Given the description of an element on the screen output the (x, y) to click on. 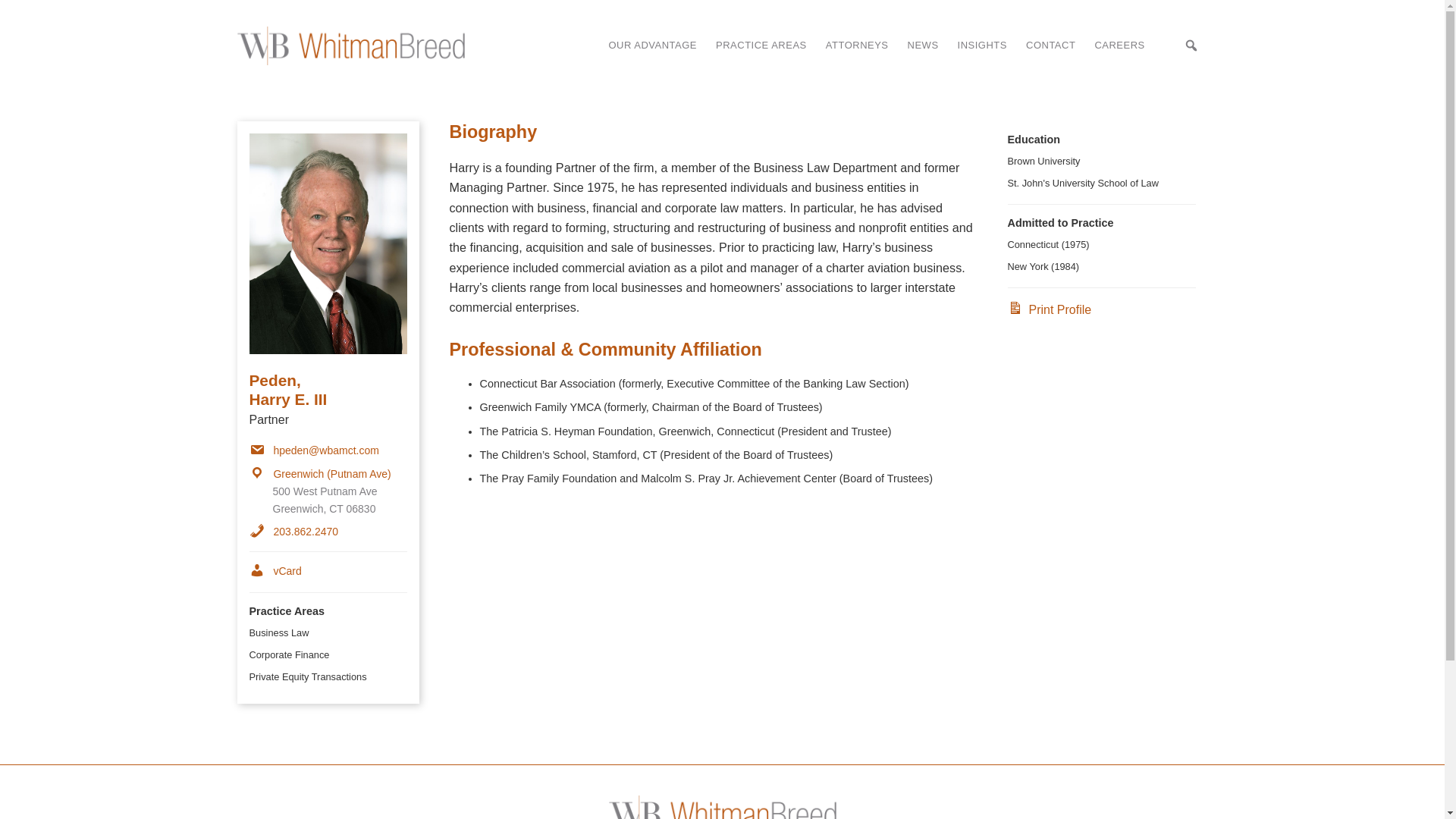
INSIGHTS (982, 45)
CAREERS (1118, 45)
203.862.2470 (292, 531)
ATTORNEYS (857, 45)
Print Profile (1048, 309)
NEWS (922, 45)
CONTACT (1050, 45)
vCard (274, 571)
OUR ADVANTAGE (651, 45)
PRACTICE AREAS (760, 45)
